Given the description of an element on the screen output the (x, y) to click on. 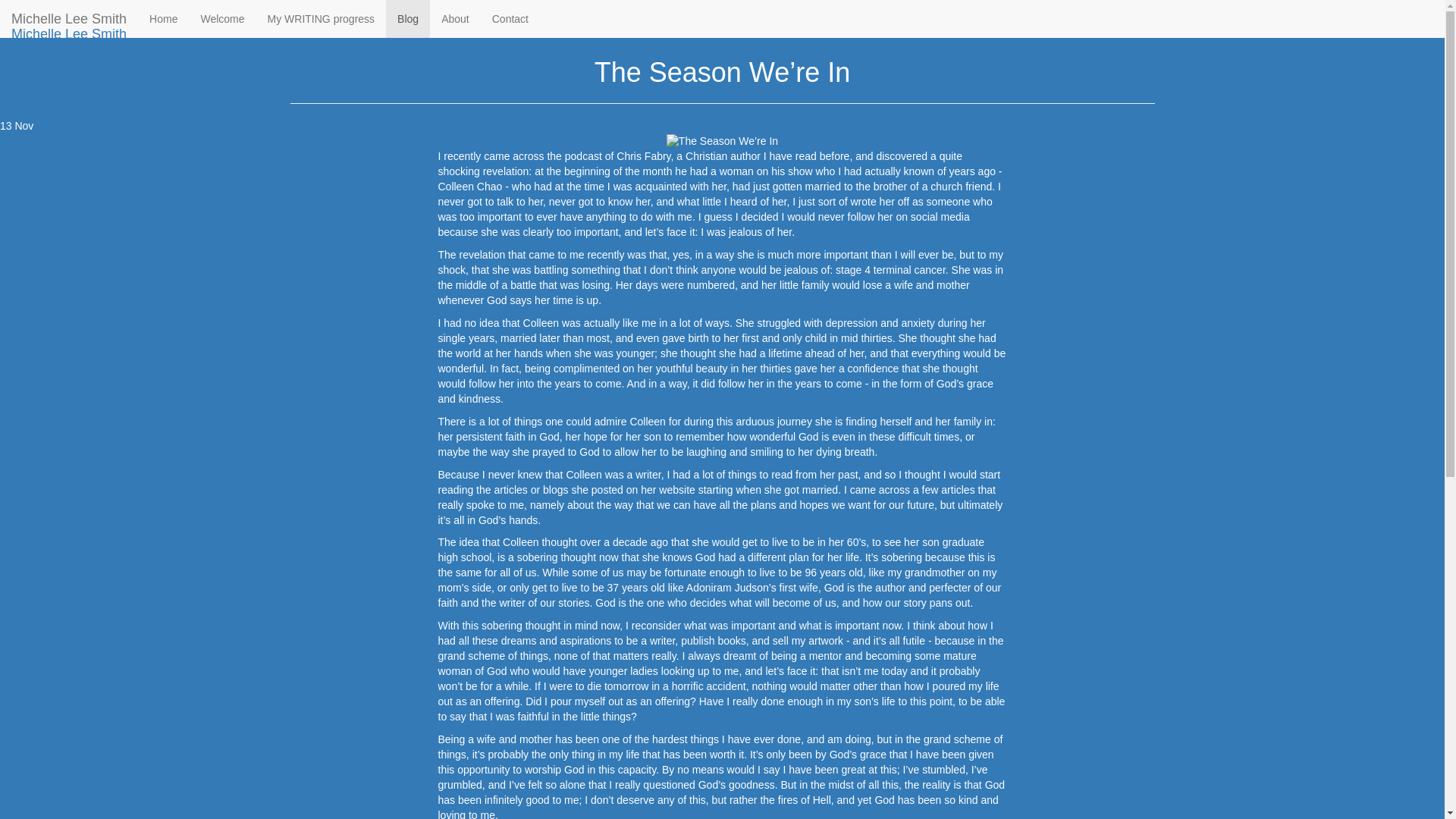
Welcome (222, 18)
Michelle Lee Smith (69, 18)
My WRITING progress (321, 18)
Blog (407, 18)
Home (303, 12)
Contact (510, 18)
Michelle Lee Smith (69, 34)
Home (163, 18)
About (454, 18)
Blog (342, 12)
